Given the description of an element on the screen output the (x, y) to click on. 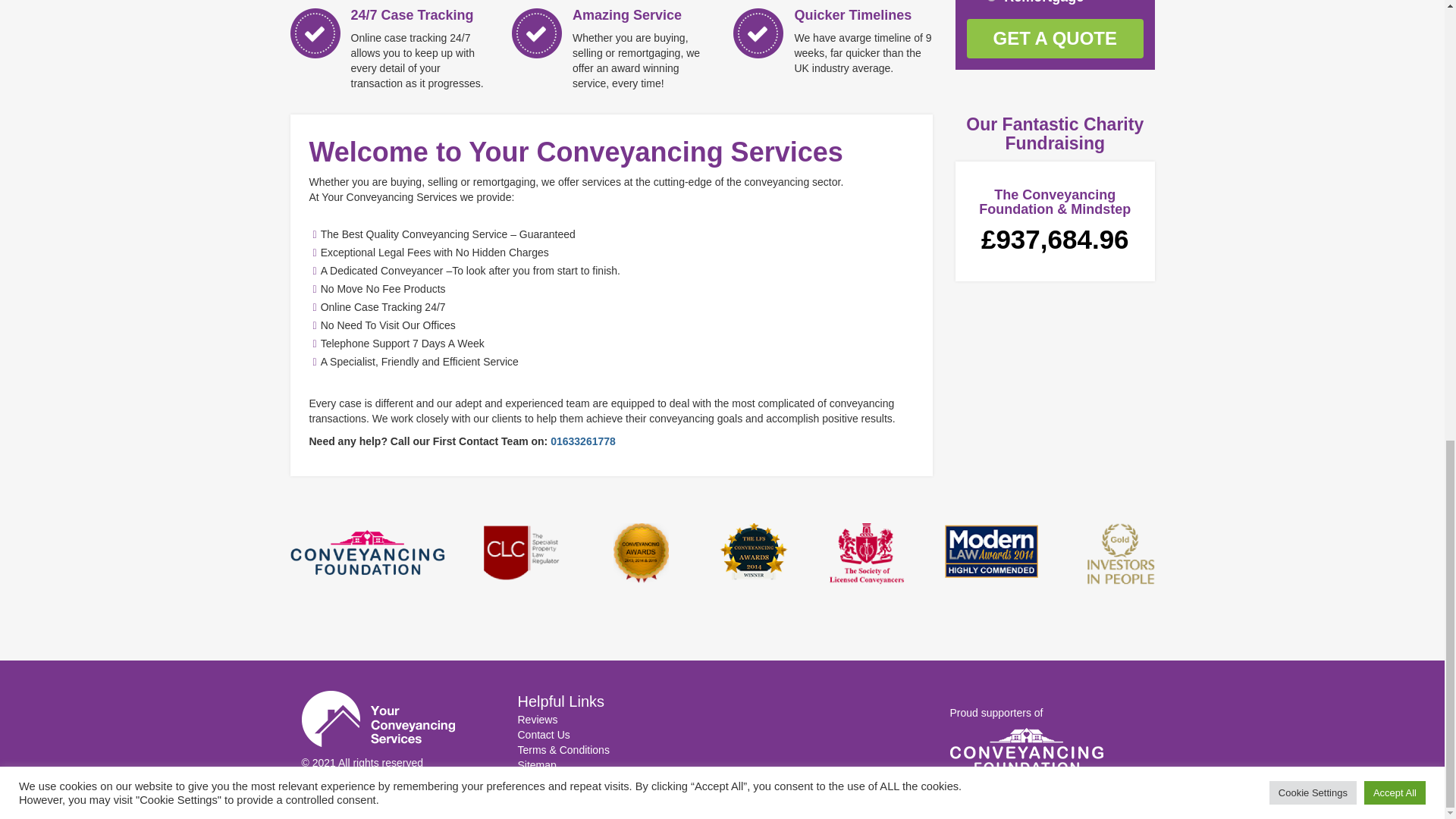
Contact Us (542, 734)
Privacy Policy (549, 779)
Get a Quote (1054, 38)
Sitemap (536, 765)
Reviews (536, 719)
01633261778 (582, 440)
